Given the description of an element on the screen output the (x, y) to click on. 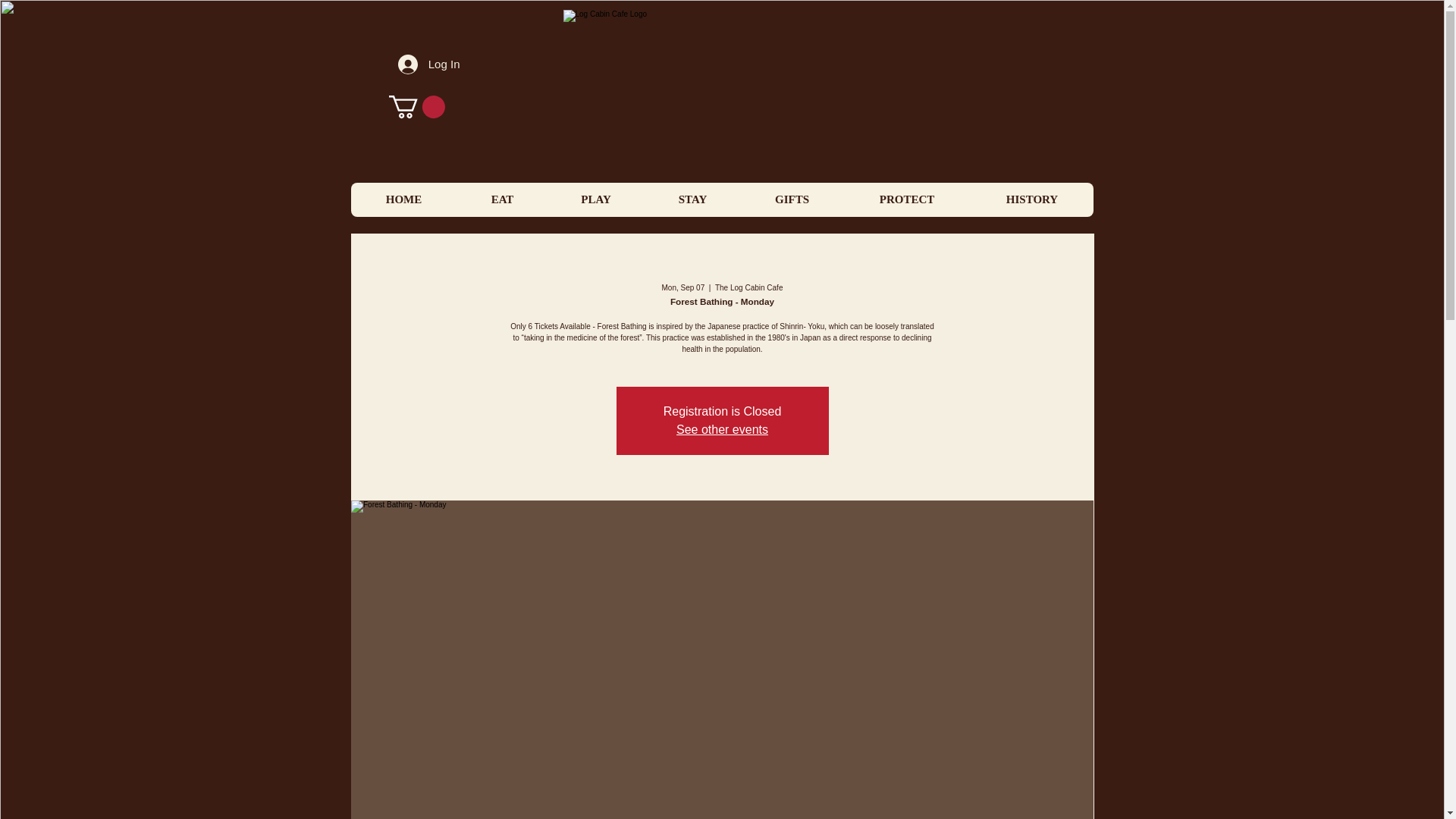
See other events (722, 429)
STAY (693, 199)
PLAY (596, 199)
Log In (428, 63)
HOME (403, 199)
GIFTS (791, 199)
HISTORY (1032, 199)
EAT (502, 199)
PROTECT (907, 199)
